Given the description of an element on the screen output the (x, y) to click on. 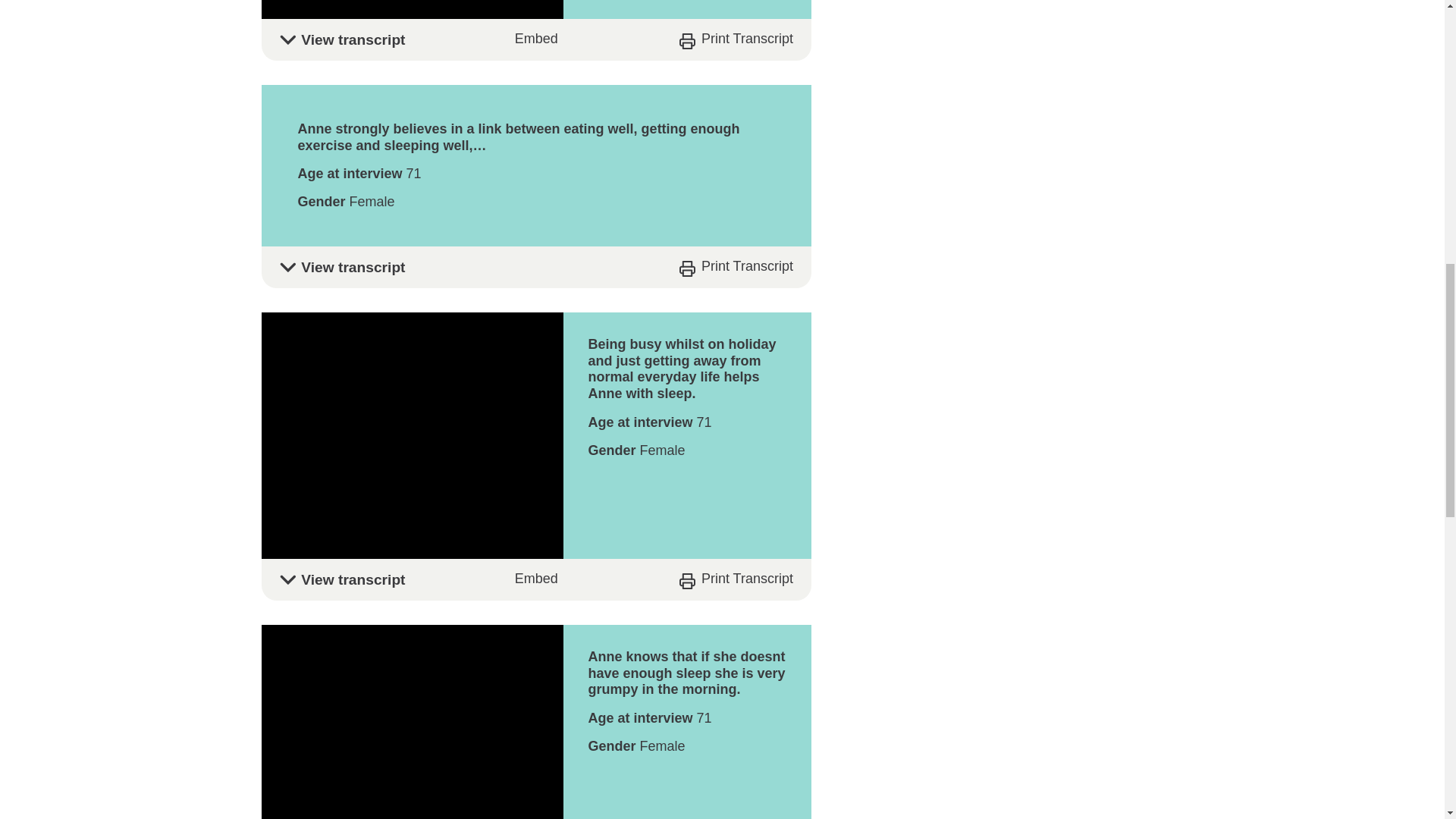
View transcript (535, 267)
View transcript (535, 579)
Print Transcript (736, 578)
Print Transcript (736, 38)
Embed (536, 39)
Print Transcript (736, 266)
Embed (536, 578)
View transcript (535, 39)
